Given the description of an element on the screen output the (x, y) to click on. 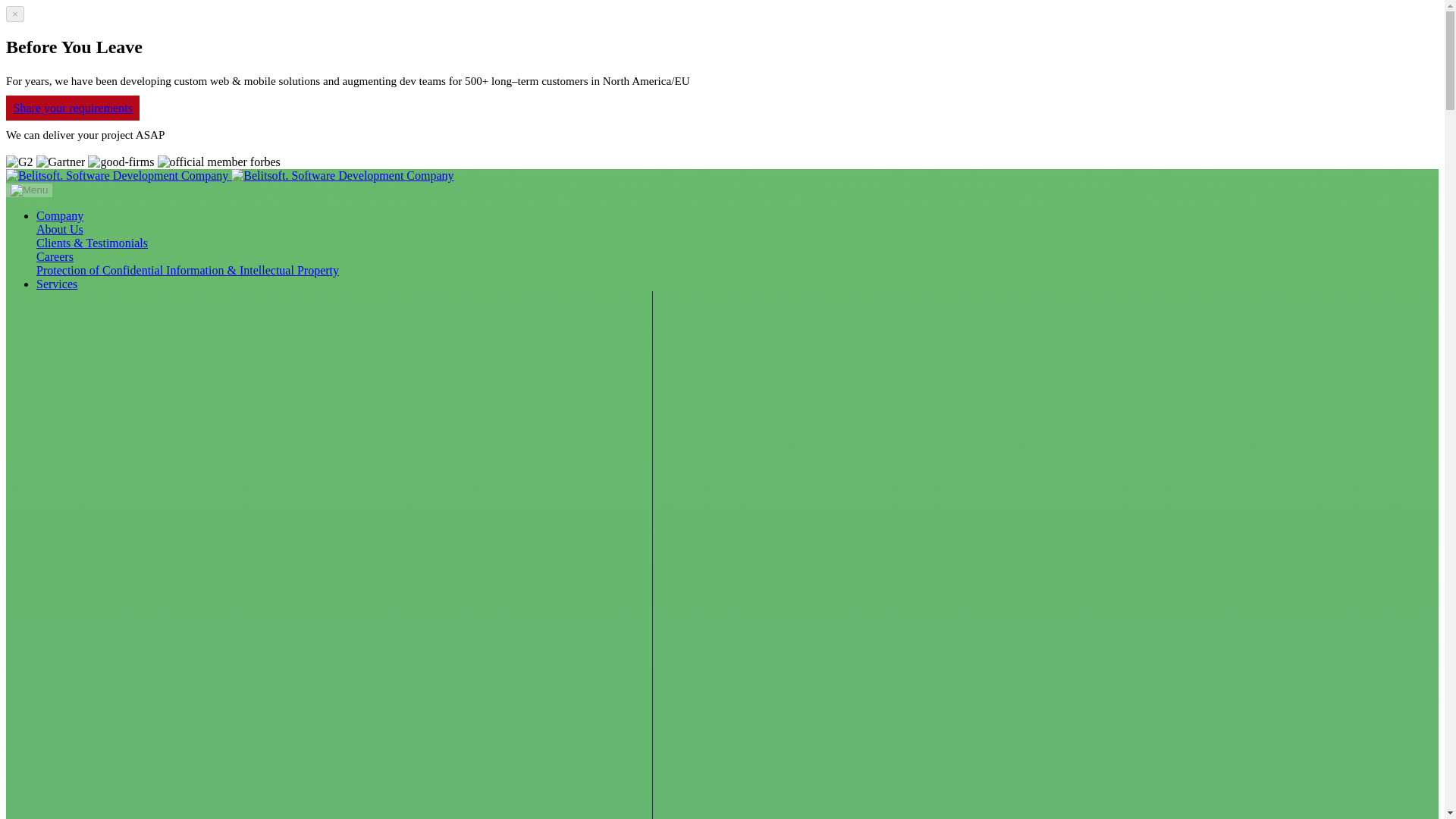
About company (59, 228)
Careers (55, 256)
Careers (55, 256)
Company (59, 215)
Services (56, 283)
About company (187, 269)
Share your requirements (72, 107)
About Us (59, 228)
